Given the description of an element on the screen output the (x, y) to click on. 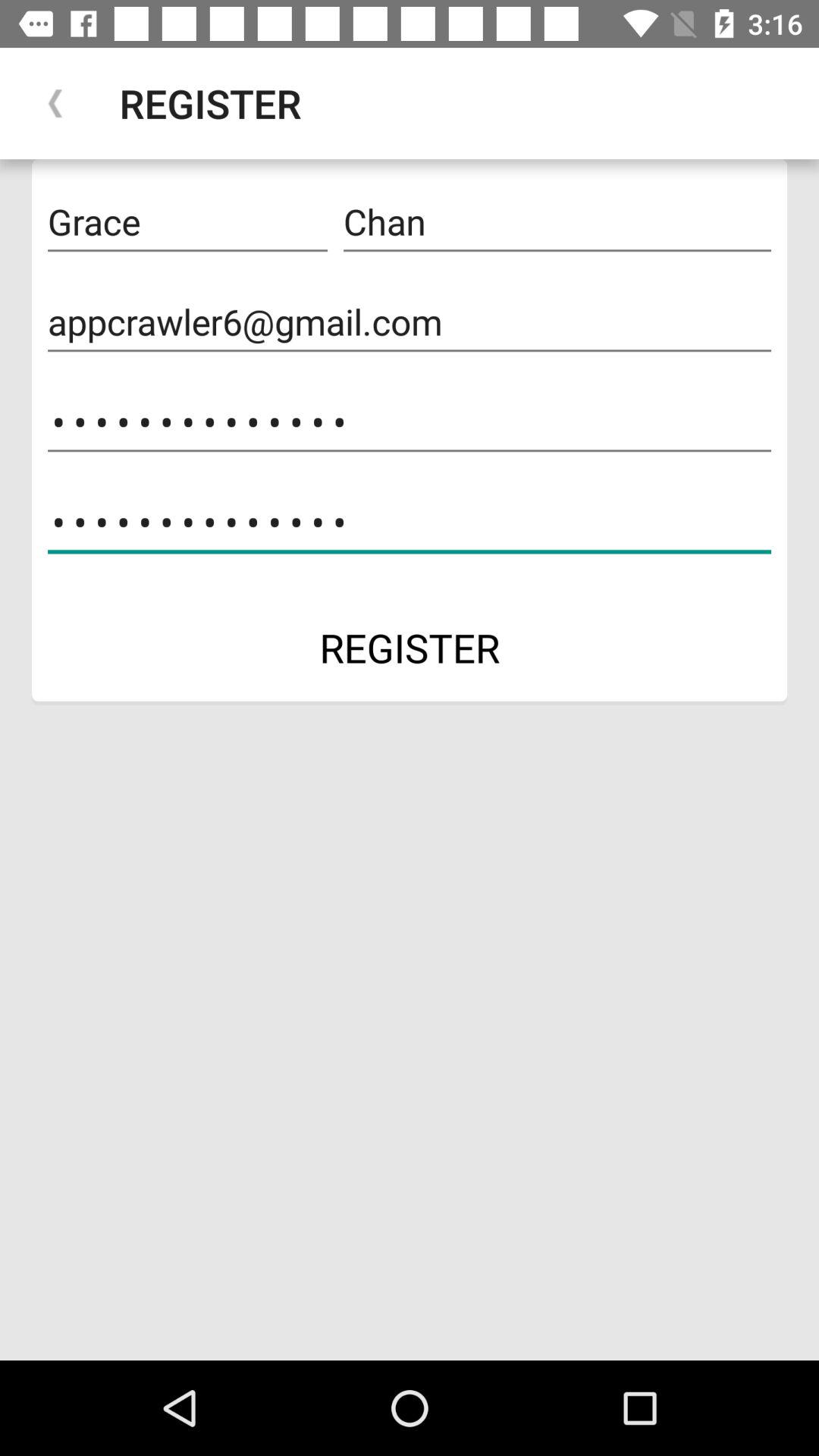
turn on item to the right of grace icon (557, 222)
